Given the description of an element on the screen output the (x, y) to click on. 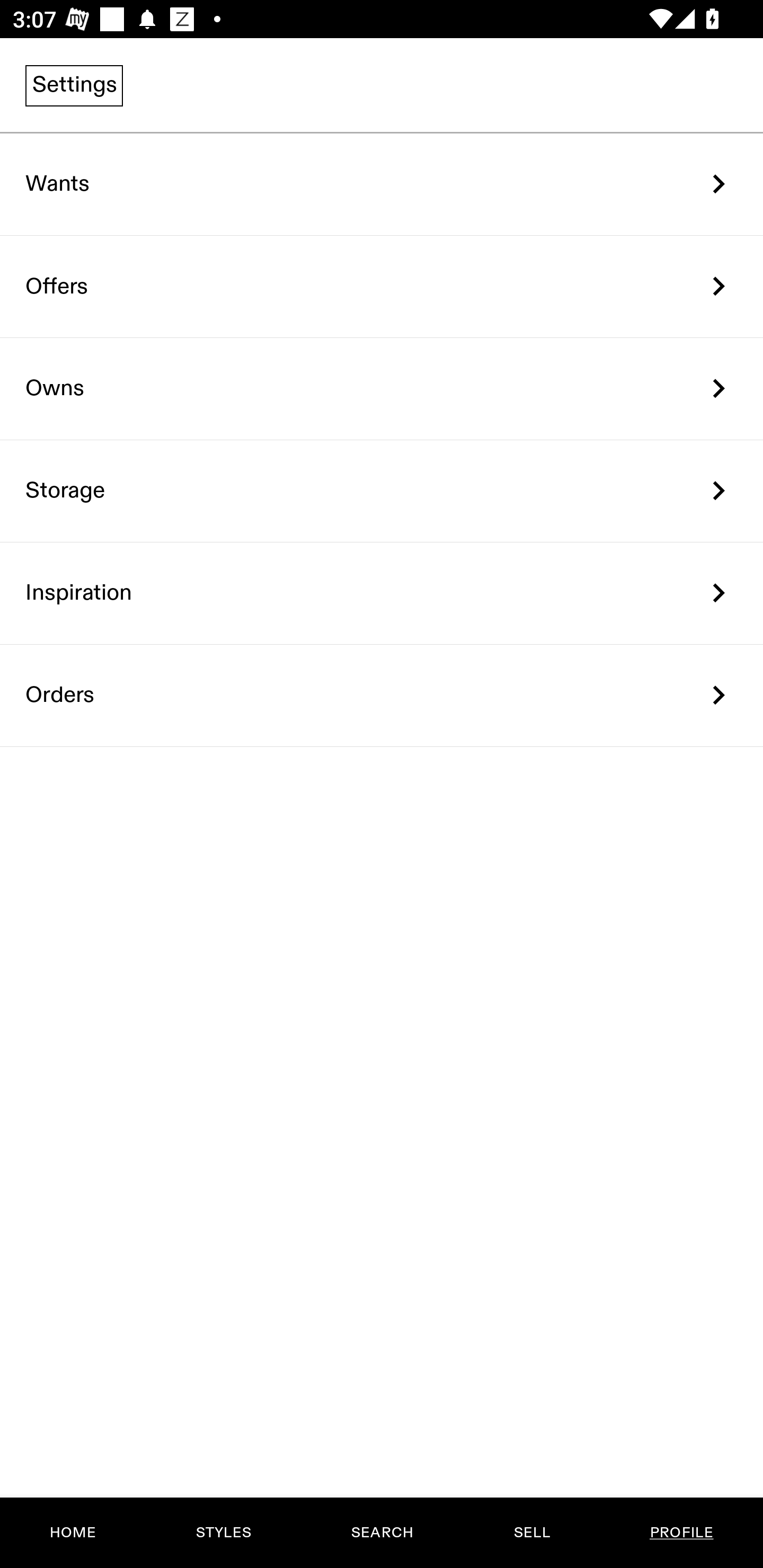
Settings (73, 85)
Wants (381, 184)
Offers (381, 286)
Owns (381, 388)
Storage (381, 491)
Inspiration (381, 593)
Orders (381, 695)
HOME (72, 1532)
STYLES (222, 1532)
SEARCH (381, 1532)
SELL (531, 1532)
PROFILE (681, 1532)
